Given the description of an element on the screen output the (x, y) to click on. 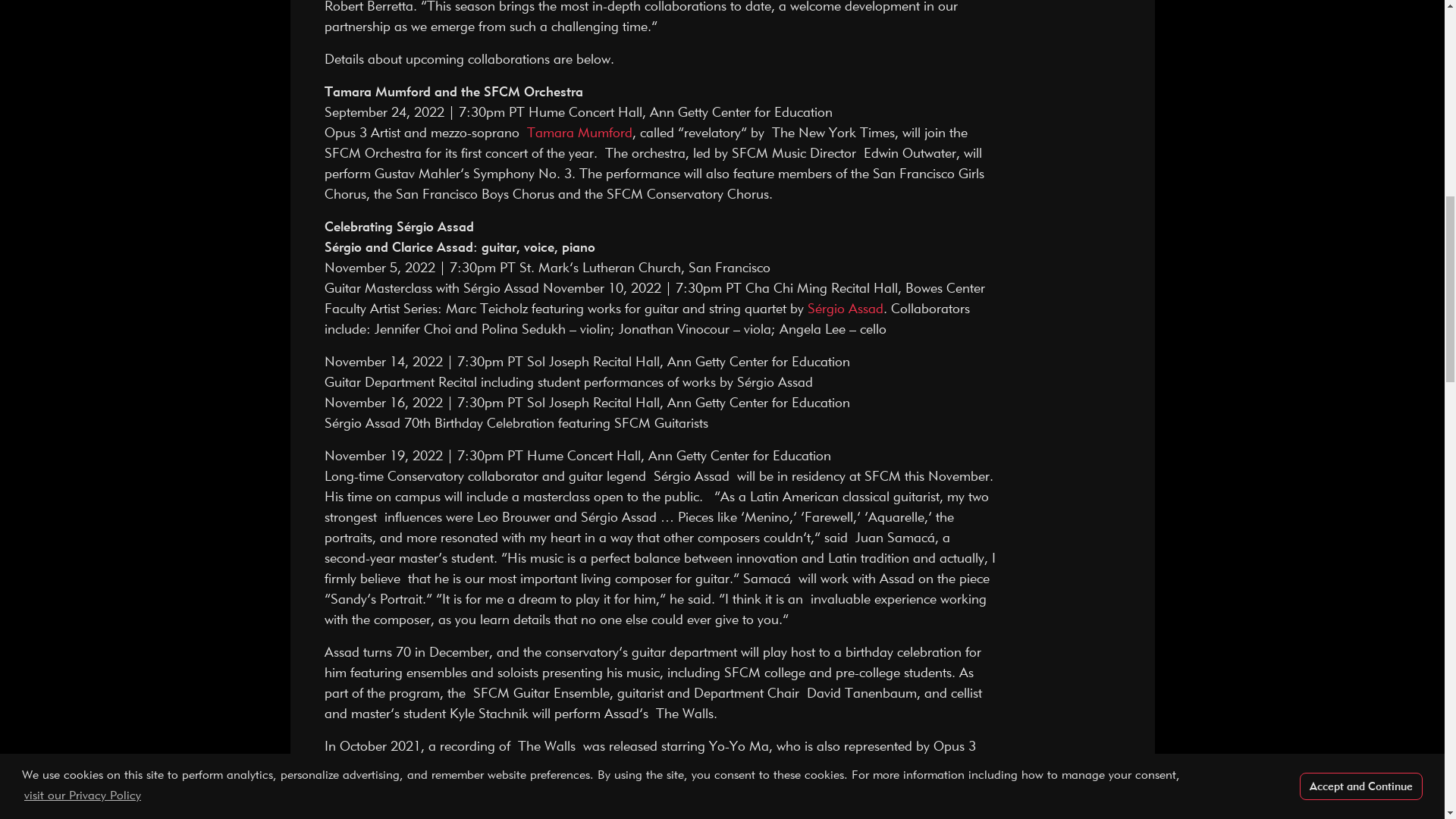
Tamara Mumford (578, 132)
